Given the description of an element on the screen output the (x, y) to click on. 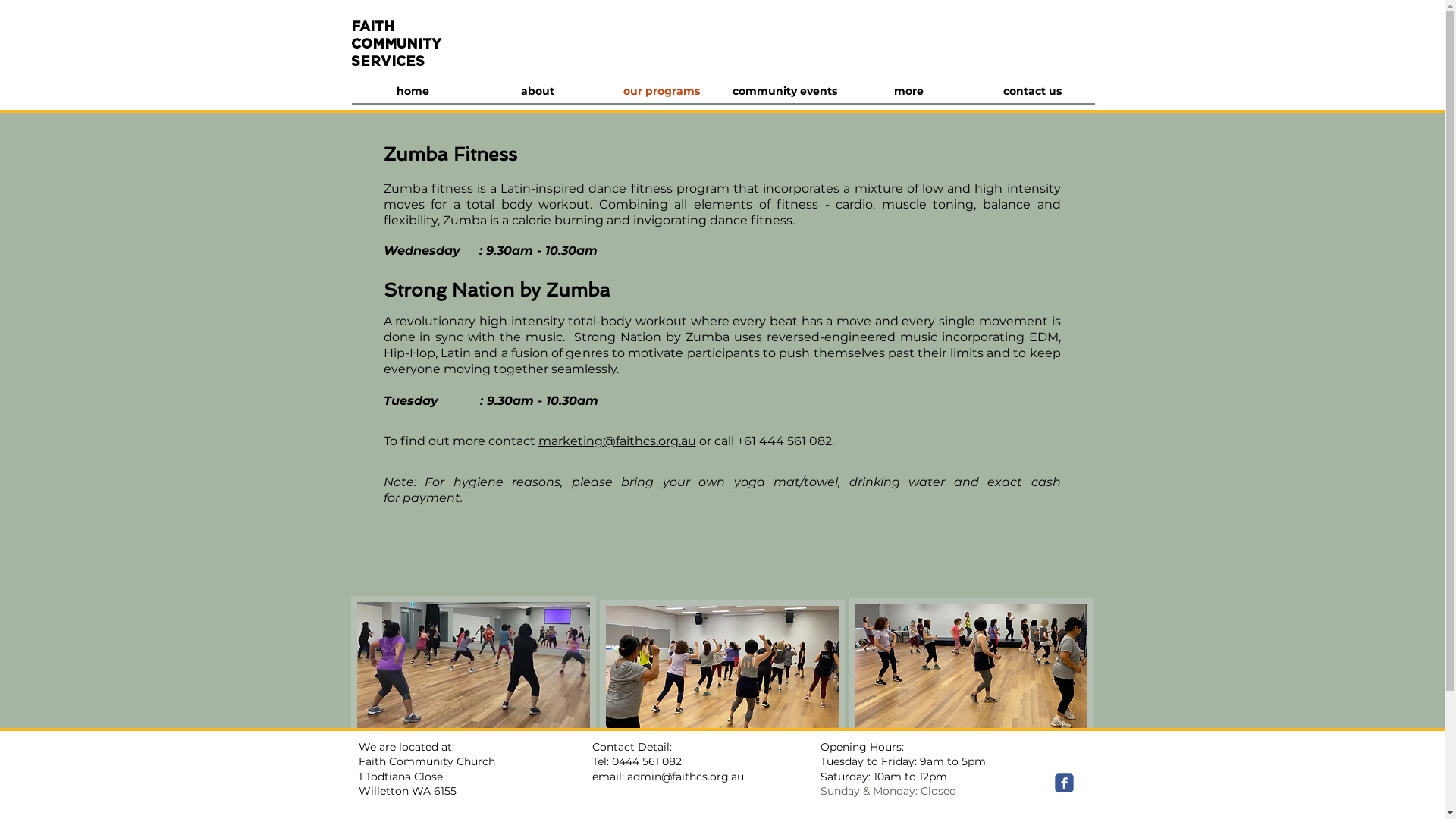
admin@faithcs.org.au Element type: text (684, 776)
community events Element type: text (785, 90)
marketing@faithcs.org.au Element type: text (617, 440)
contact us Element type: text (1032, 90)
home Element type: text (412, 90)
our programs Element type: text (660, 90)
about Element type: text (536, 90)
